Given the description of an element on the screen output the (x, y) to click on. 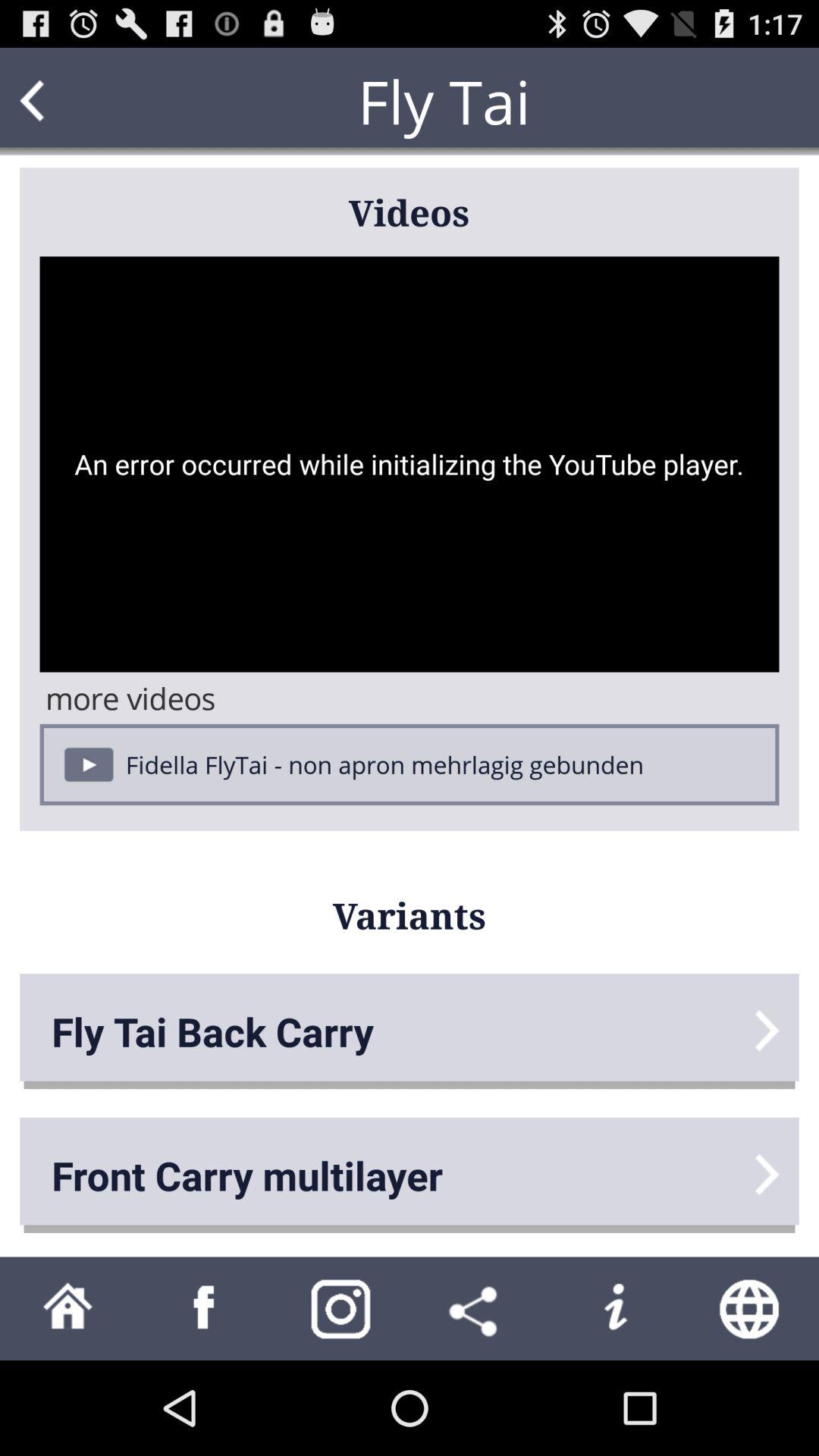
sharing options (477, 1308)
